Given the description of an element on the screen output the (x, y) to click on. 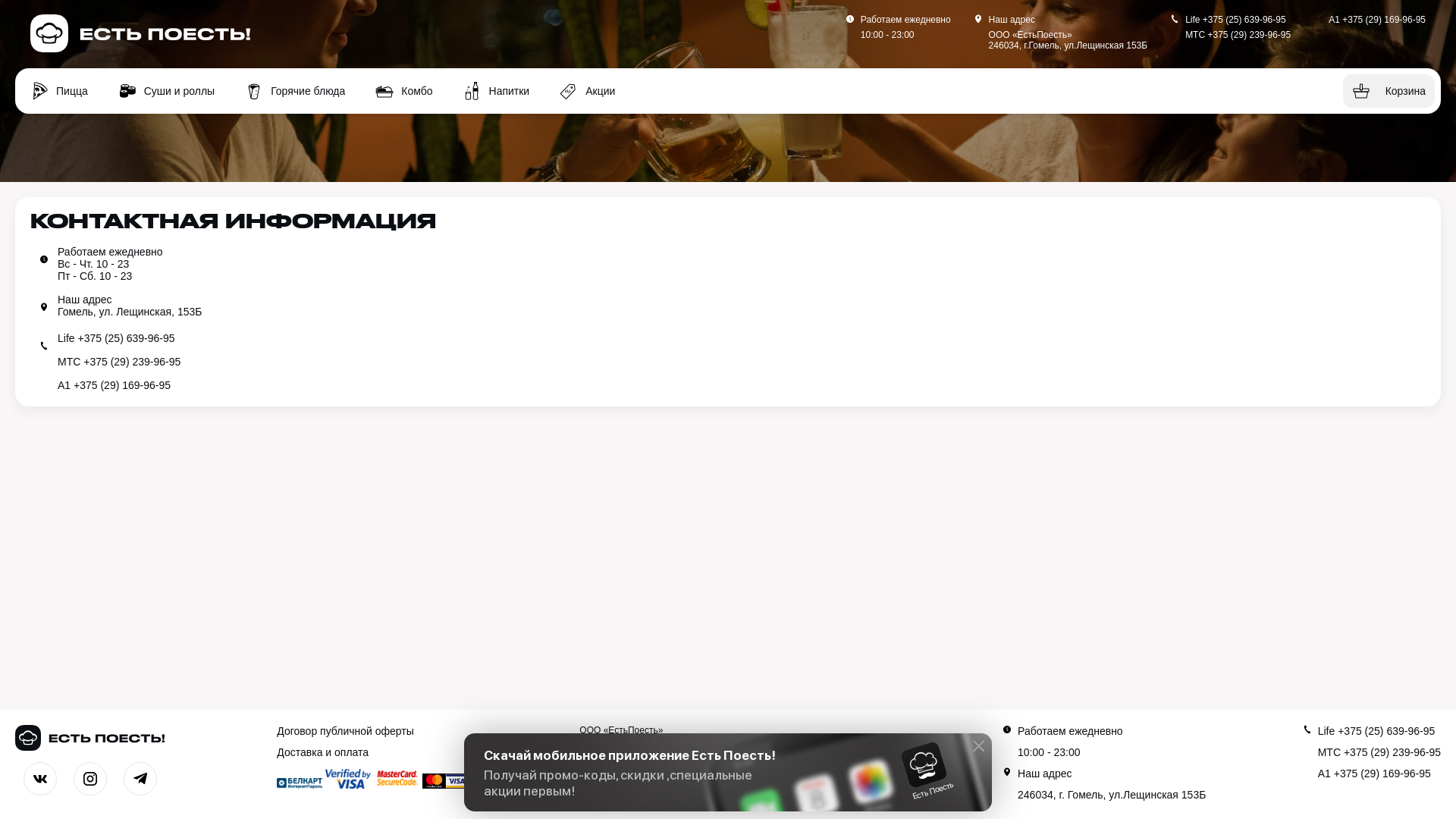
A1 +375 (29) 169-96-95 Element type: text (741, 385)
Life +375 (25) 639-96-95 Element type: text (1235, 18)
Life +375 (25) 639-96-95 Element type: text (741, 338)
Life +375 (25) 639-96-95 Element type: text (1376, 730)
A1 +375 (29) 169-96-95 Element type: text (1376, 18)
A1 +375 (29) 169-96-95 Element type: text (1378, 773)
